Given the description of an element on the screen output the (x, y) to click on. 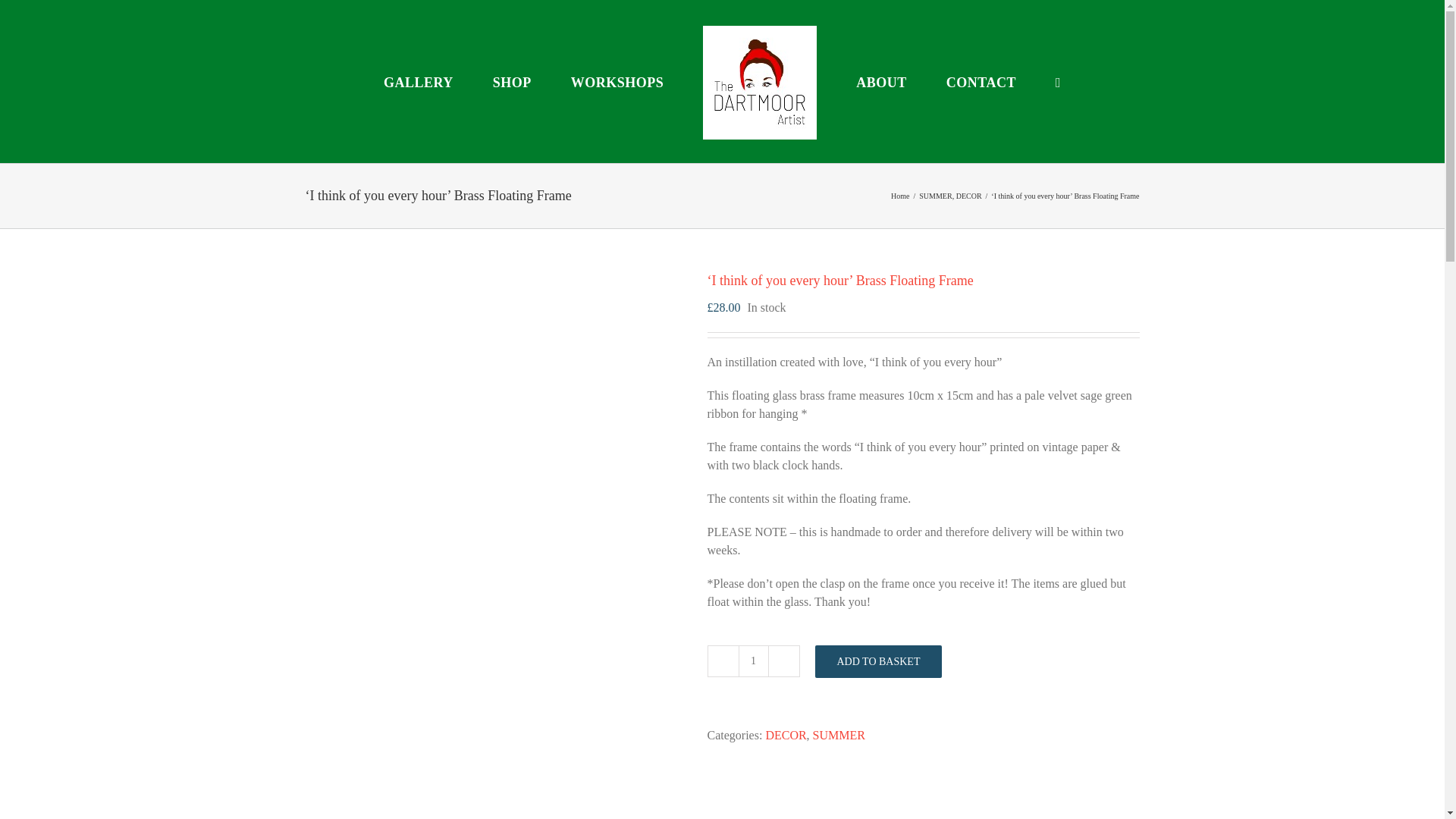
1 (753, 661)
CONTACT (981, 81)
DECOR (968, 195)
SUMMER (935, 195)
DECOR (785, 735)
GALLERY (418, 81)
WORKSHOPS (616, 81)
ADD TO BASKET (877, 660)
Home (899, 195)
